Given the description of an element on the screen output the (x, y) to click on. 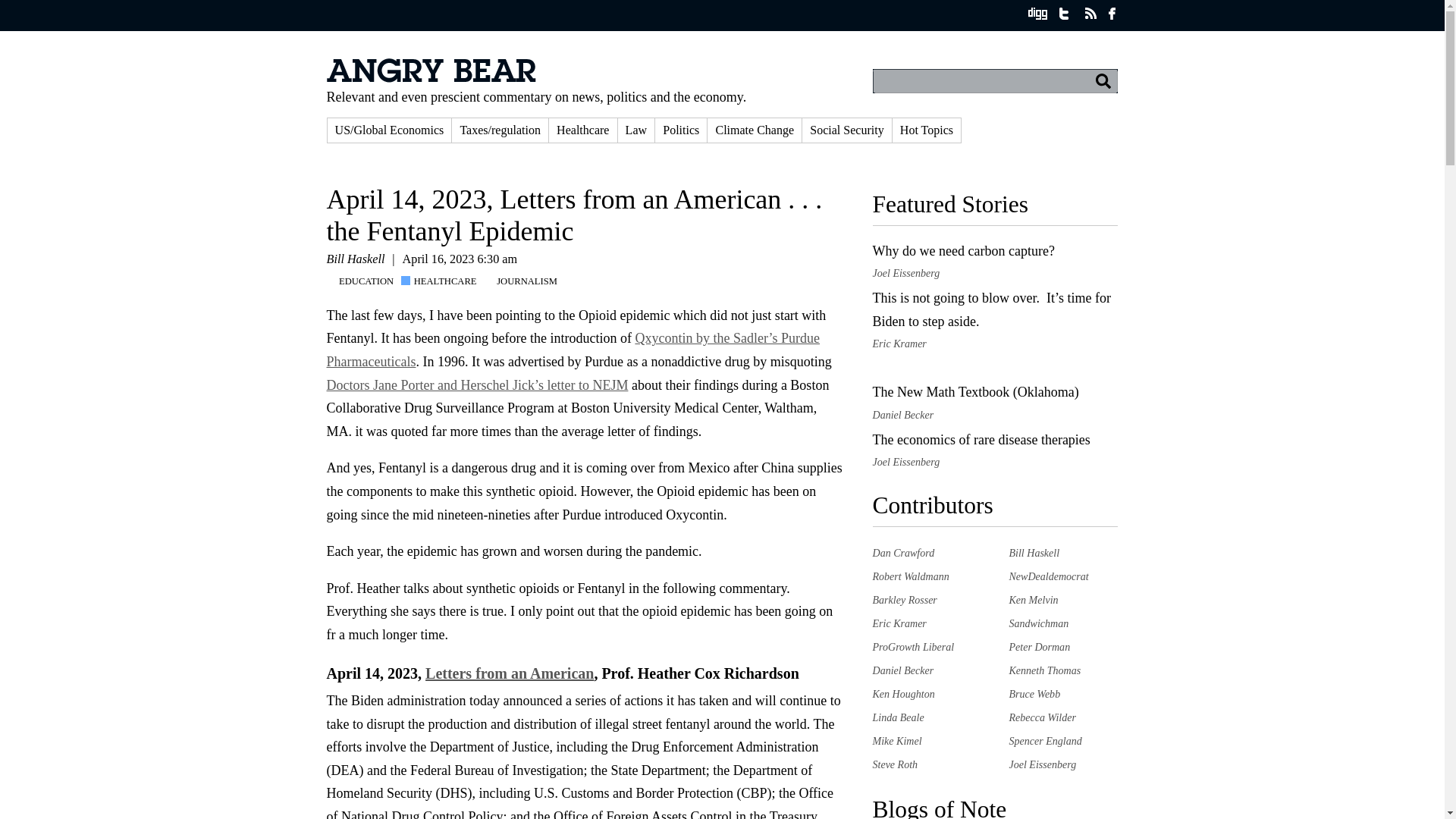
Social Security (846, 129)
Daniel Becker (902, 670)
Robert Waldmann (910, 576)
ProGrowth Liberal (912, 646)
Eric Kramer (899, 623)
Law (636, 129)
The economics of rare disease therapies (980, 439)
Healthcare (582, 129)
JOURNALISM (524, 281)
